Given the description of an element on the screen output the (x, y) to click on. 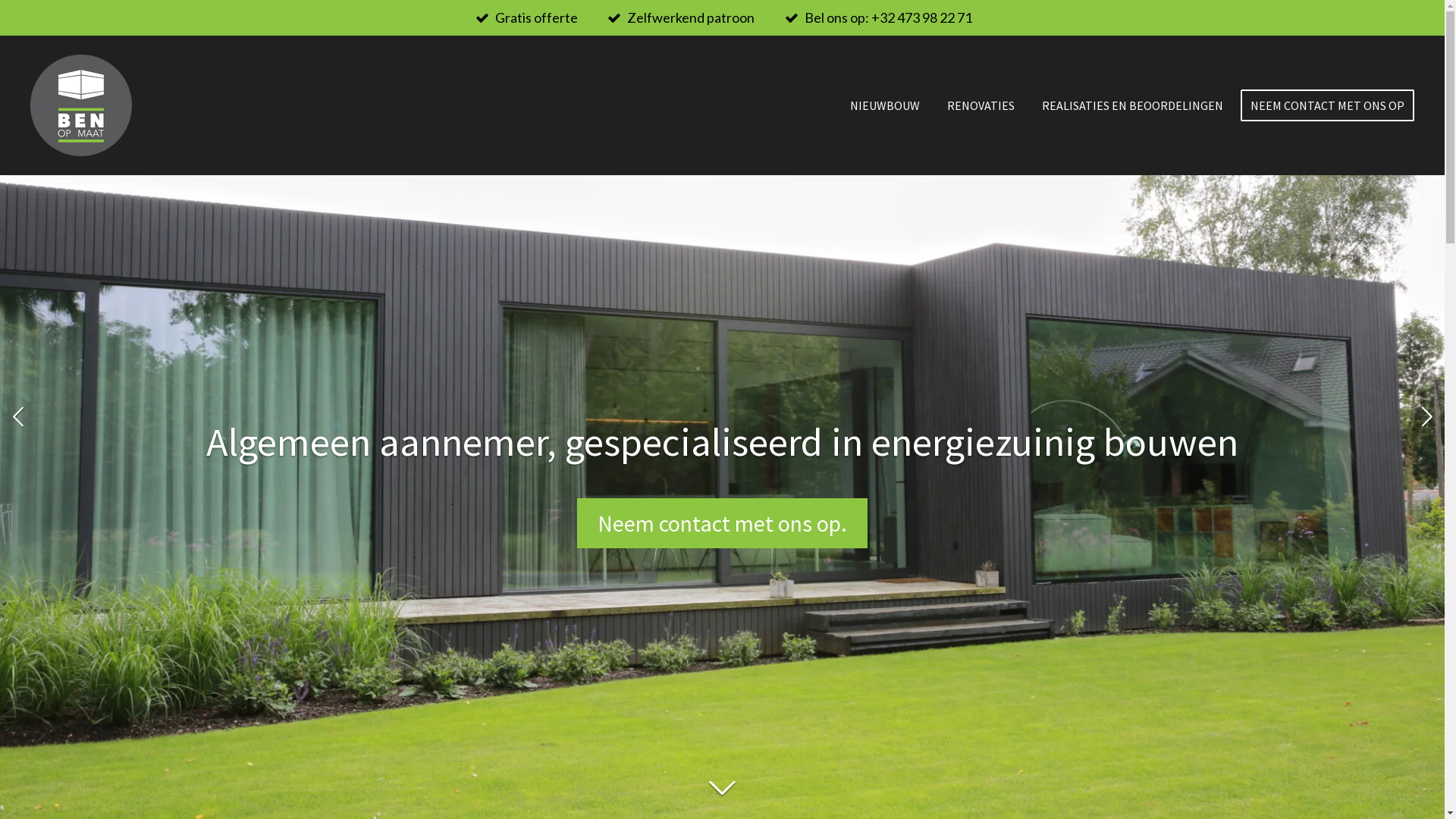
NIEUWBOUW Element type: text (884, 105)
Neem contact met ons op. Element type: text (722, 522)
REALISATIES EN BEOORDELINGEN Element type: text (1132, 105)
B.E.N. Op Maat Element type: hover (80, 105)
RENOVATIES Element type: text (980, 105)
NEEM CONTACT MET ONS OP Element type: text (1327, 105)
